Given the description of an element on the screen output the (x, y) to click on. 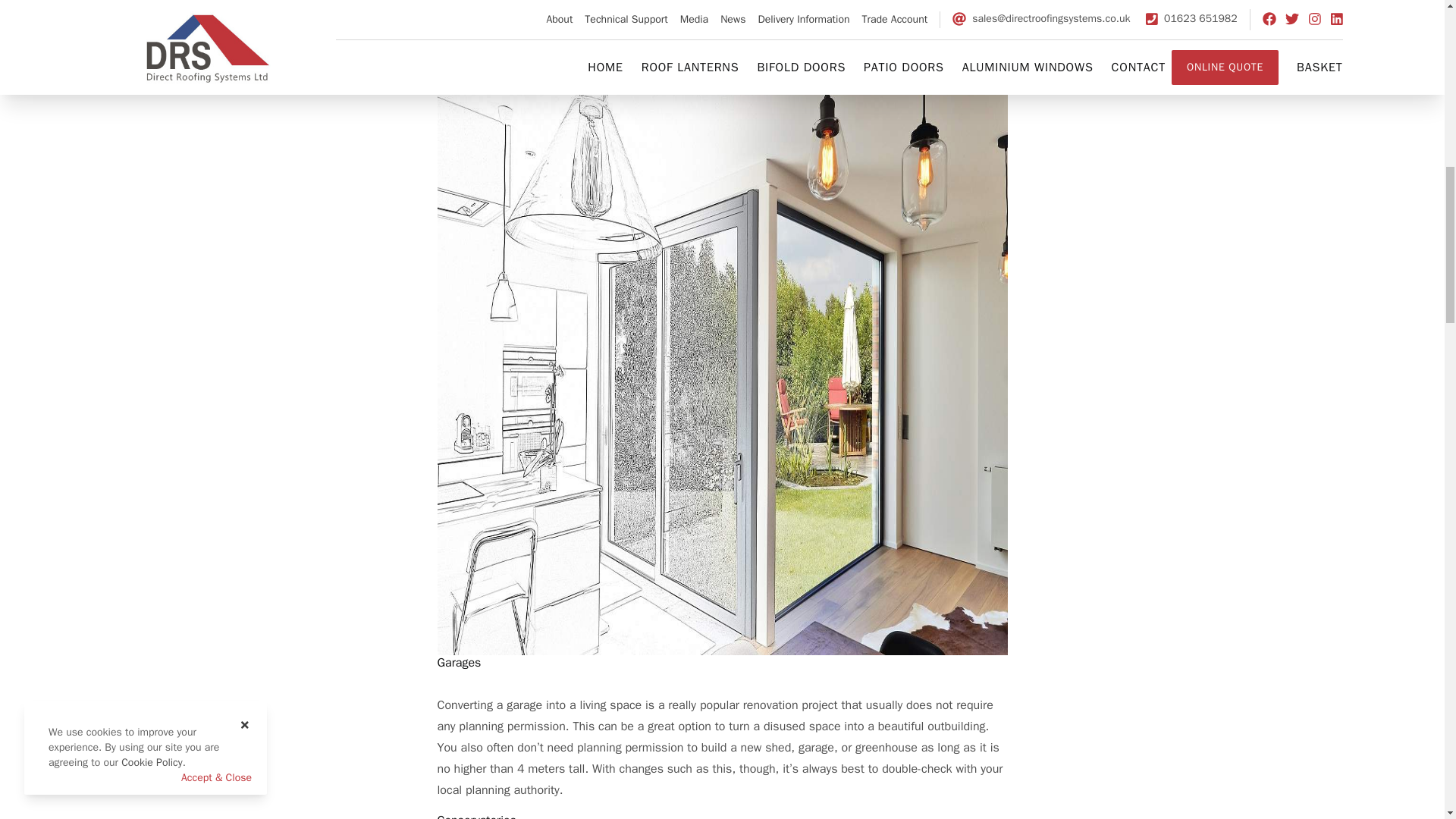
planning permission (709, 62)
